Given the description of an element on the screen output the (x, y) to click on. 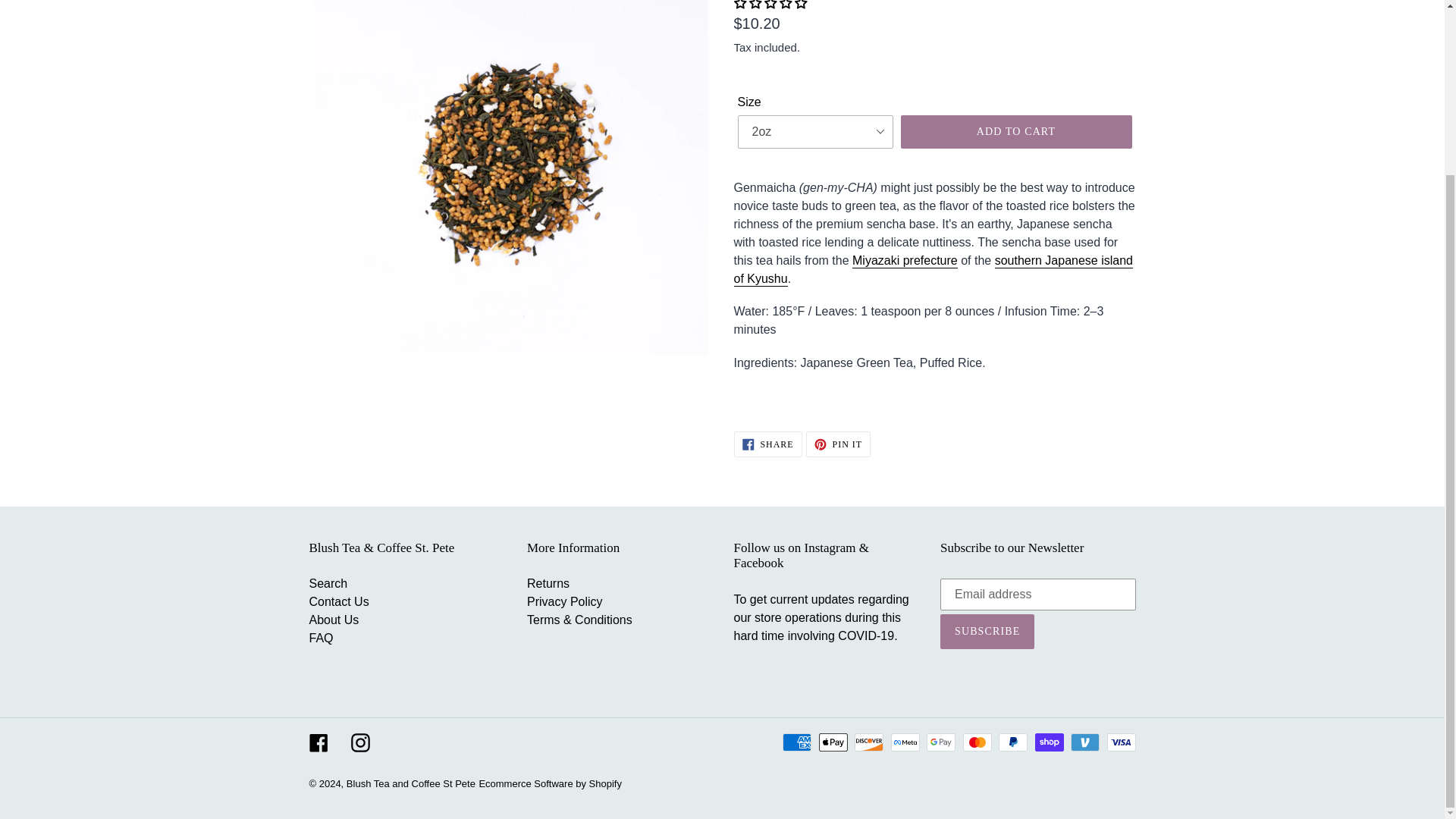
Miyazaki prefecture (904, 260)
southern Japanese island of Kyushu (933, 269)
ADD TO CART (767, 444)
